Given the description of an element on the screen output the (x, y) to click on. 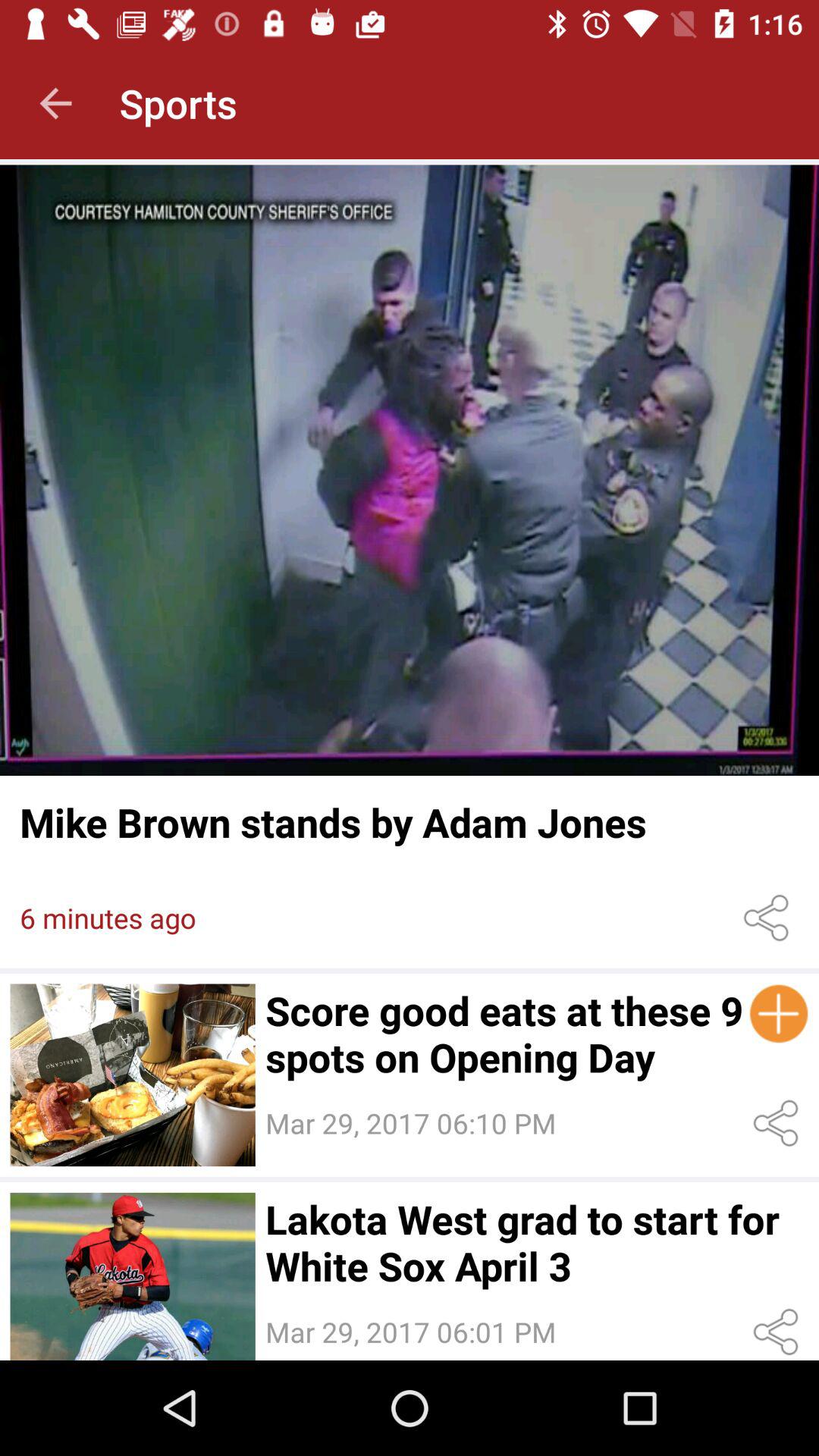
turn on item next to sports icon (55, 103)
